Given the description of an element on the screen output the (x, y) to click on. 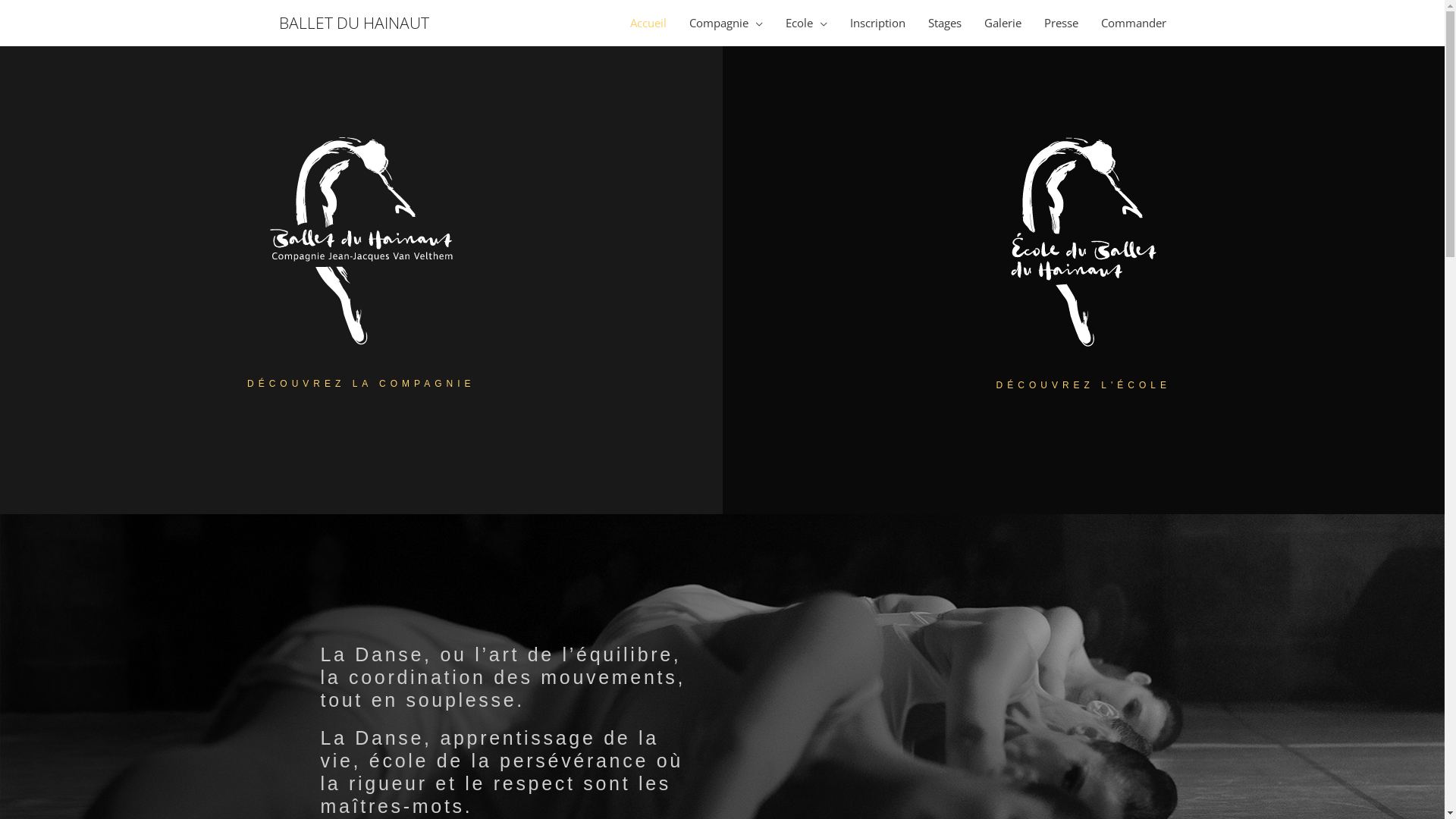
Compagnie Element type: text (725, 22)
Presse Element type: text (1060, 22)
Commander Element type: text (1132, 22)
logo_ecole_ Element type: hover (1083, 241)
BALLET DU HAINAUT Element type: text (354, 22)
logo_blanc Element type: hover (360, 241)
Accueil Element type: text (647, 22)
Galerie Element type: text (1002, 22)
Ecole Element type: text (805, 22)
Inscription Element type: text (877, 22)
Stages Element type: text (944, 22)
